Given the description of an element on the screen output the (x, y) to click on. 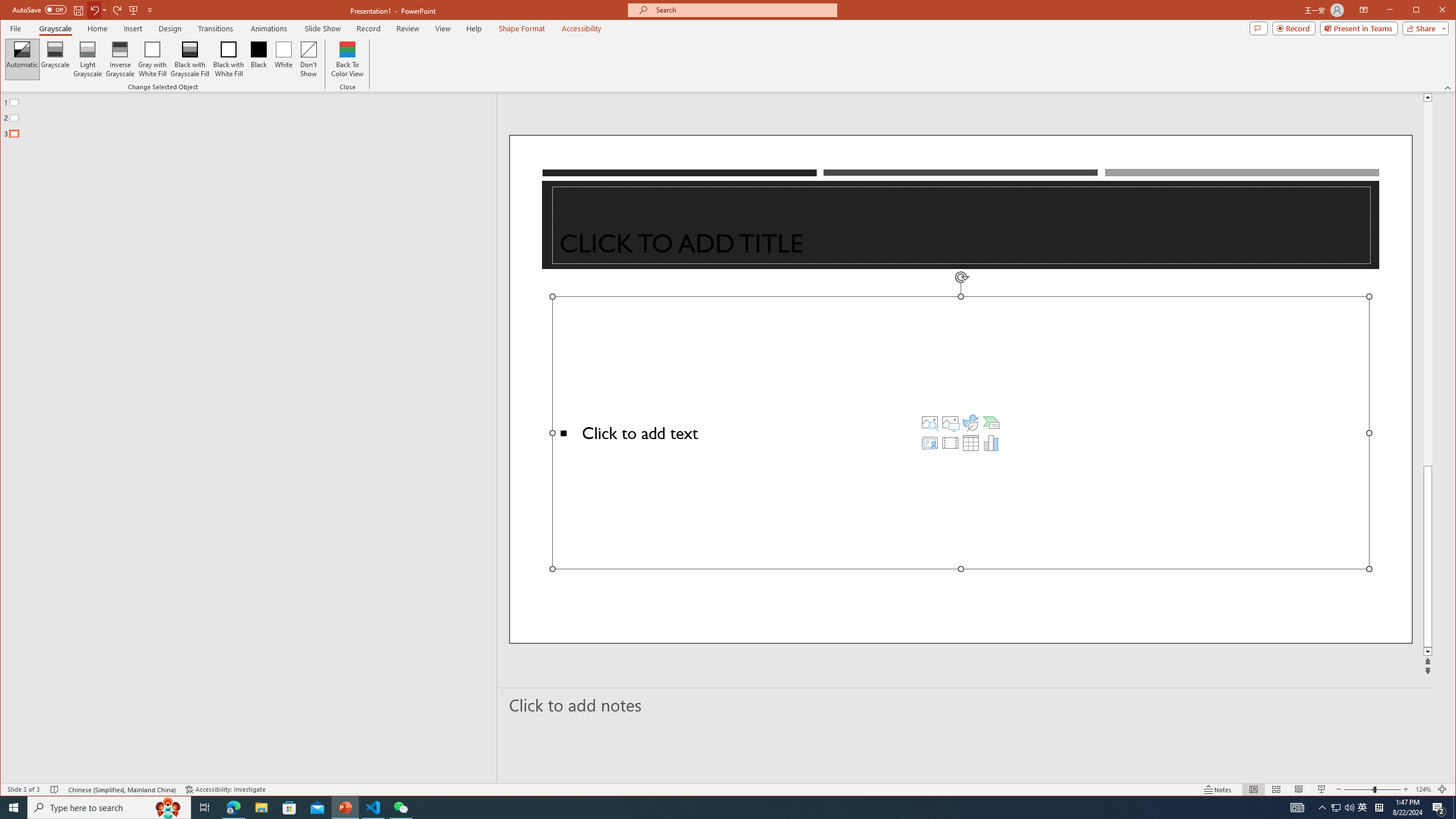
Inverse Grayscale (119, 59)
Content Placeholder (960, 432)
Stock Images (929, 422)
Light Grayscale (87, 59)
Insert Chart (991, 443)
White (283, 59)
